Given the description of an element on the screen output the (x, y) to click on. 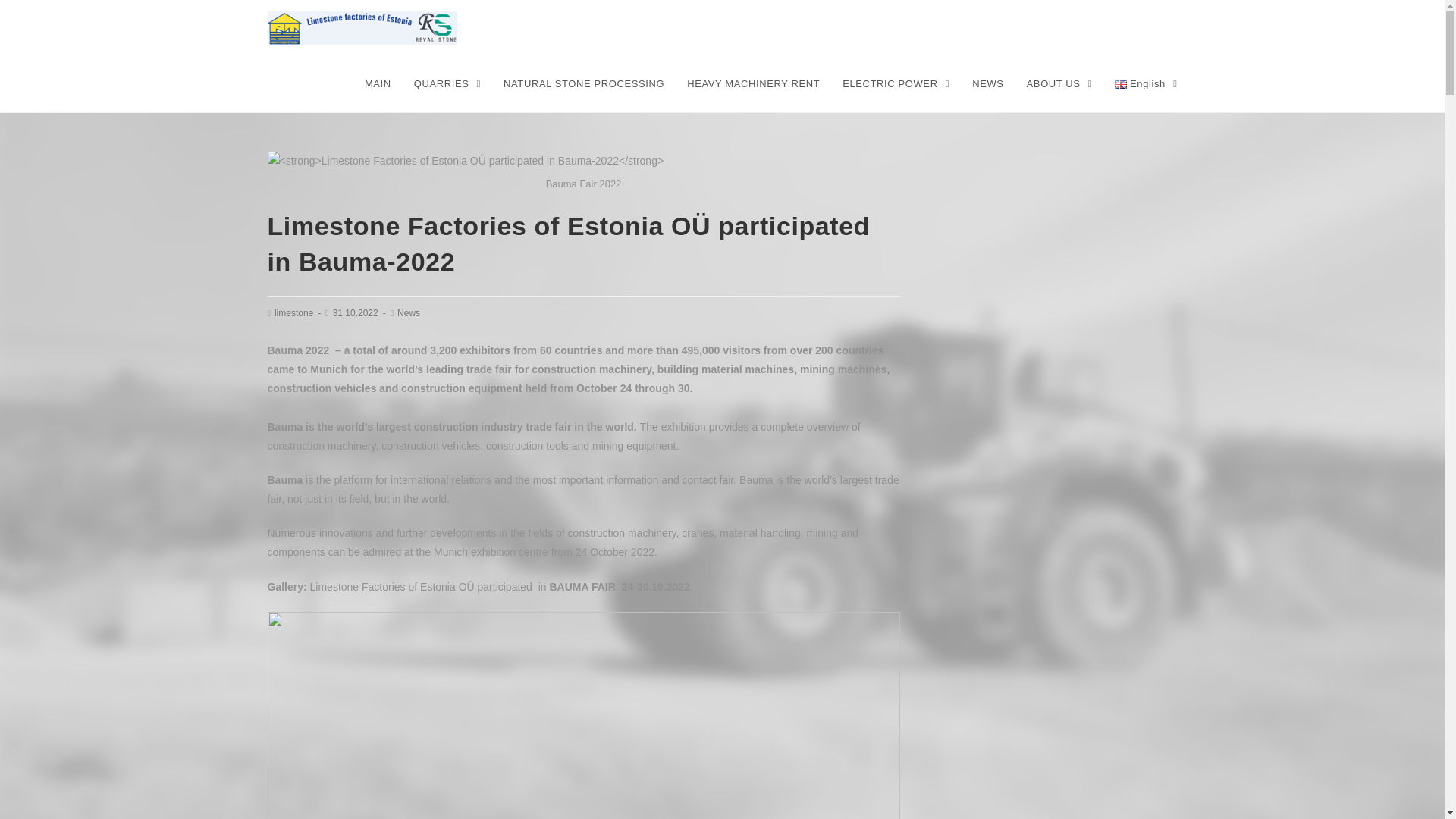
limestone (294, 312)
News (408, 312)
ELECTRIC POWER (895, 84)
NEWS (987, 84)
HEAVY MACHINERY RENT (753, 84)
English (1145, 84)
NATURAL STONE PROCESSING (583, 84)
QUARRIES (447, 84)
ABOUT US (1058, 84)
Posts by limestone (294, 312)
